Given the description of an element on the screen output the (x, y) to click on. 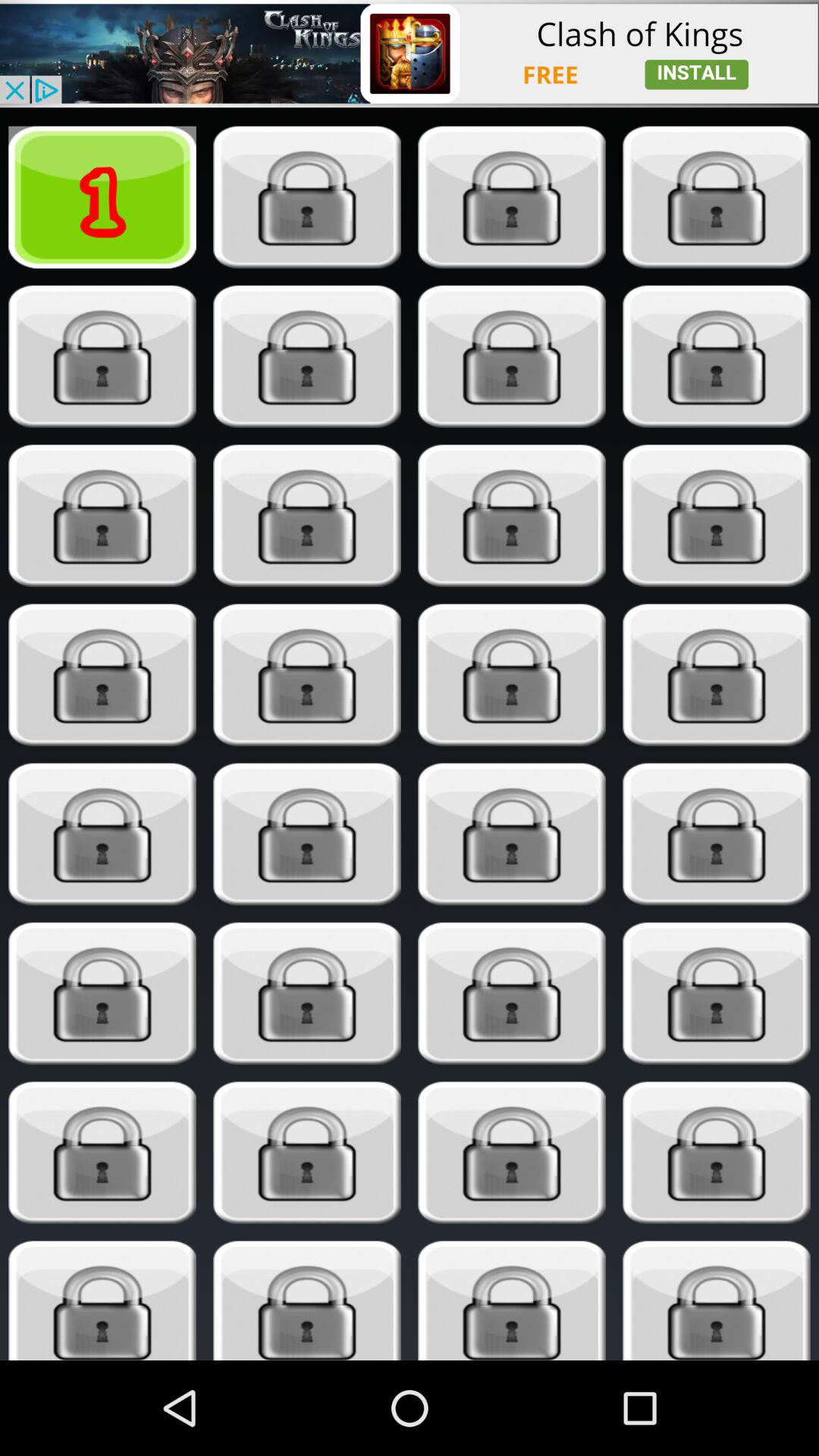
unlock item (716, 834)
